Given the description of an element on the screen output the (x, y) to click on. 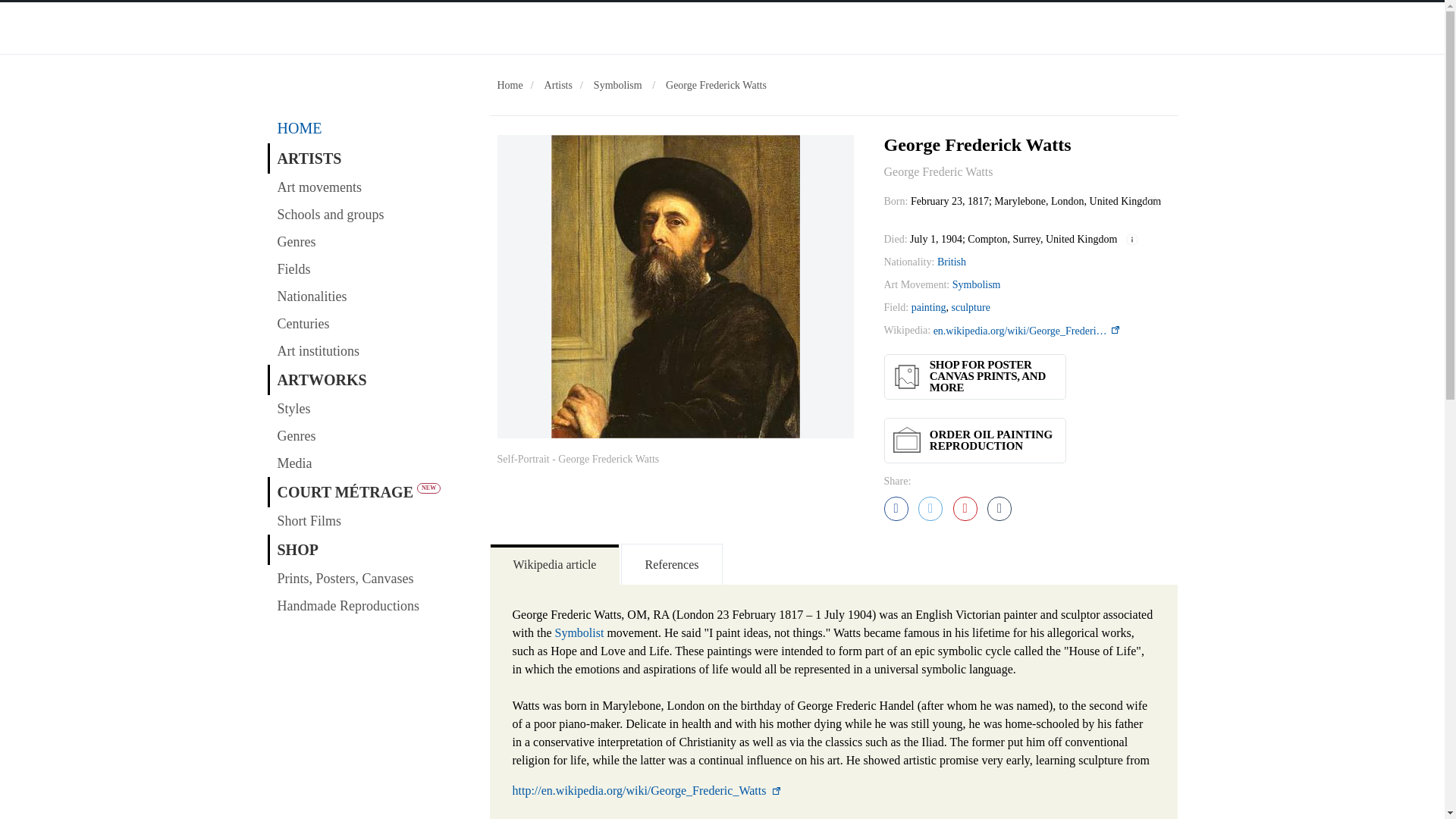
HOME (370, 128)
Genres (370, 241)
SHOP (370, 549)
Art movements (370, 186)
Styles (370, 408)
Short Films (370, 520)
Handmade Reproductions (370, 605)
Fields (370, 268)
Schools and groups (370, 214)
ARTISTS (370, 158)
